Given the description of an element on the screen output the (x, y) to click on. 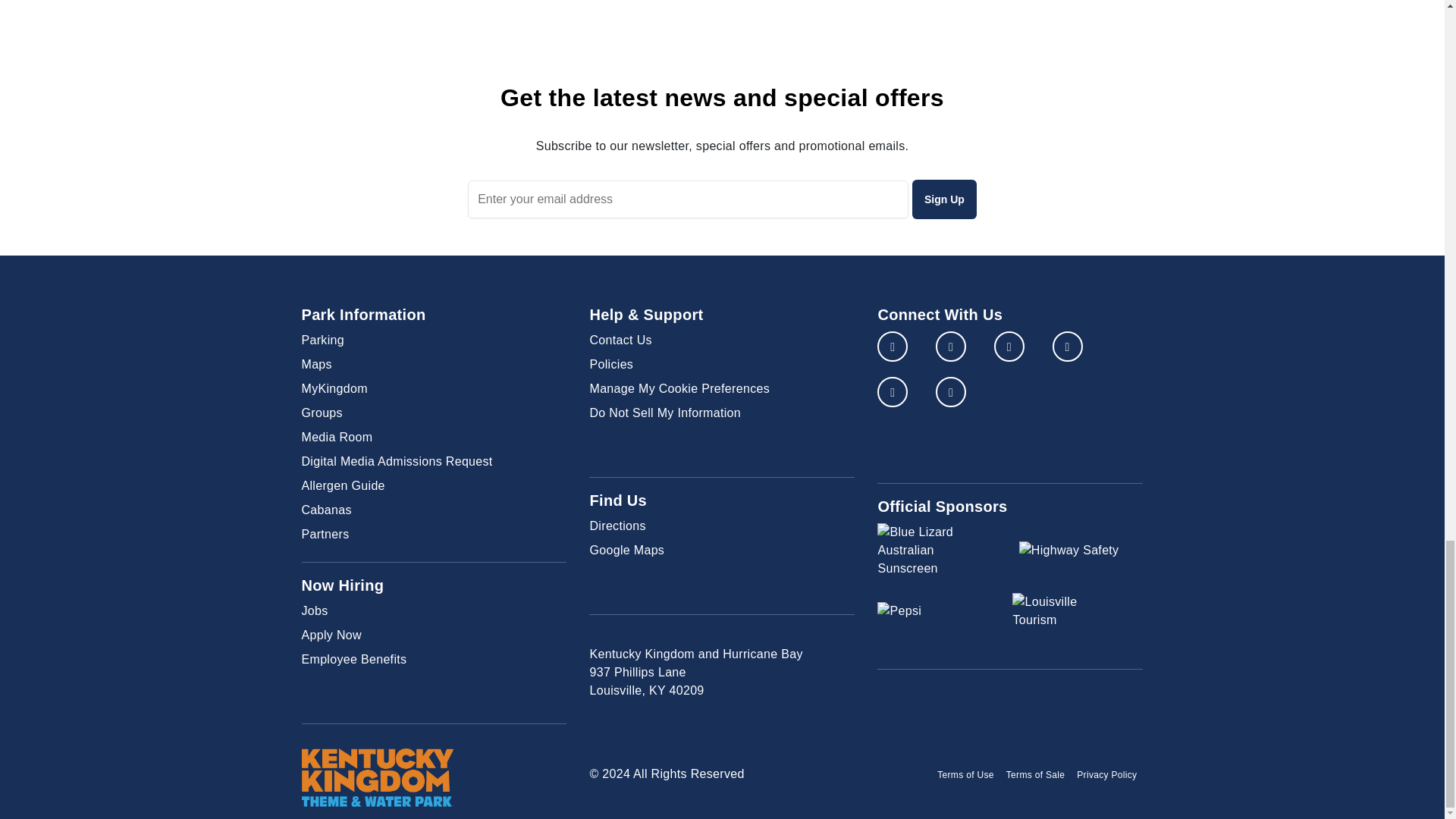
Terms of Use (965, 775)
Sign Up (944, 199)
Terms of Sale (1035, 775)
Privacy Policy (1106, 775)
